Given the description of an element on the screen output the (x, y) to click on. 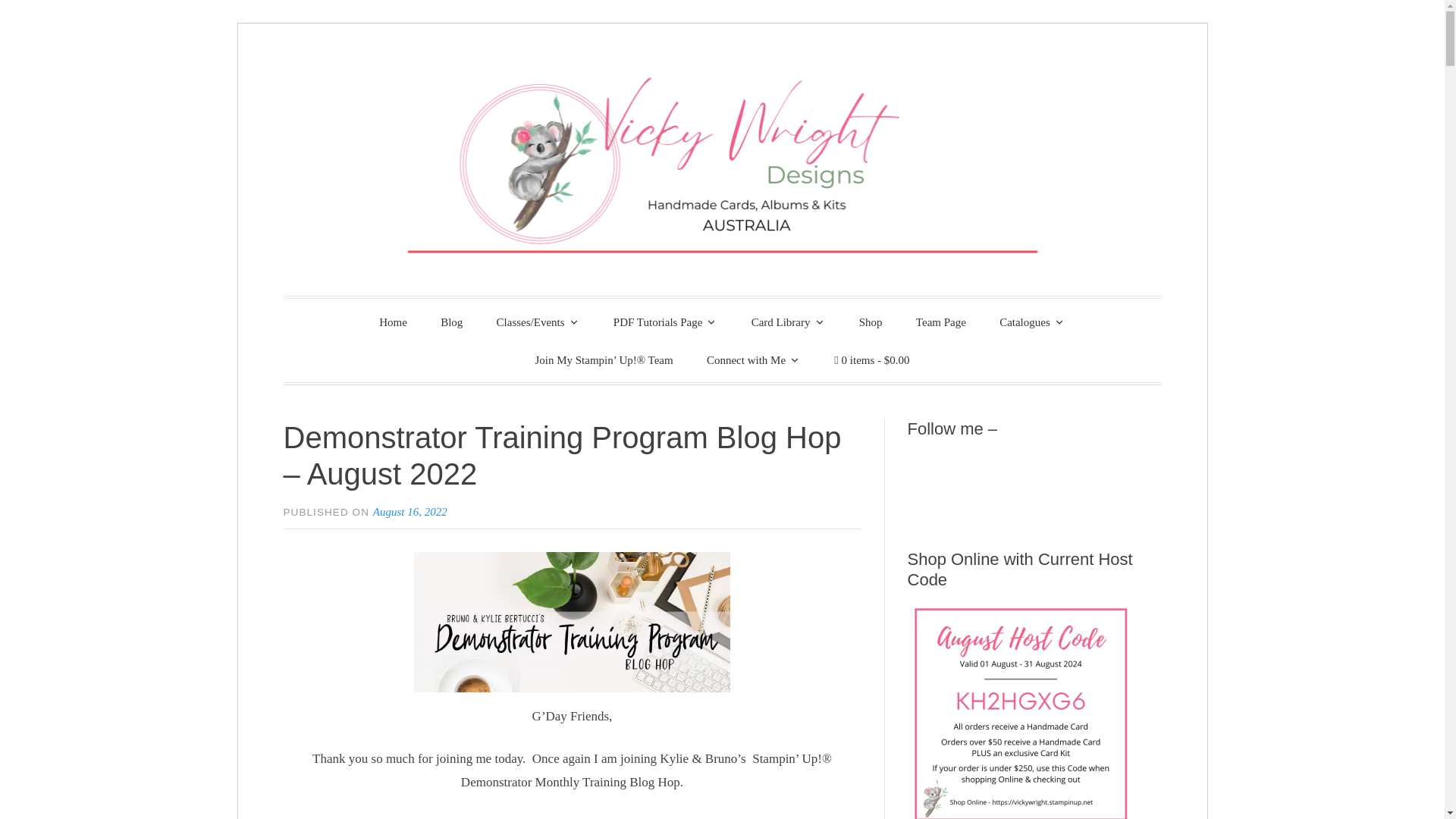
Blog (451, 322)
Start shopping (871, 360)
Shop (871, 322)
Team Page (941, 322)
Vicky Wright (439, 319)
Card Library (788, 321)
August 16, 2022 (409, 511)
PDF Tutorials Page (665, 321)
Connect with Me (753, 359)
